Given the description of an element on the screen output the (x, y) to click on. 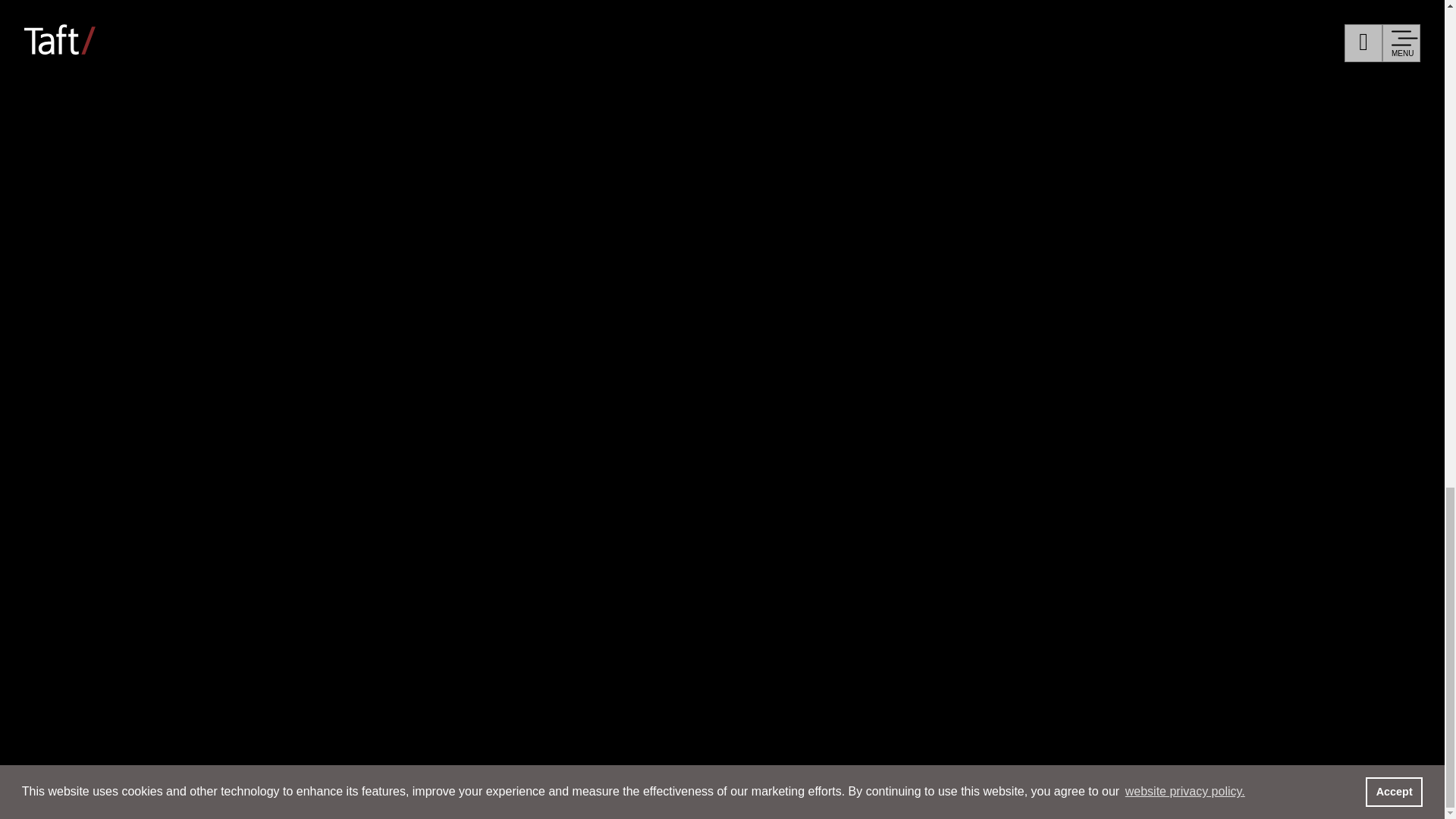
Terms and Conditions (1114, 212)
Contact Us (836, 212)
Payments (861, 238)
Affiliates (753, 212)
Accessibility (1242, 212)
Careers (136, 137)
About (124, 226)
Subscribe (925, 212)
Privacy (1002, 212)
